Given the description of an element on the screen output the (x, y) to click on. 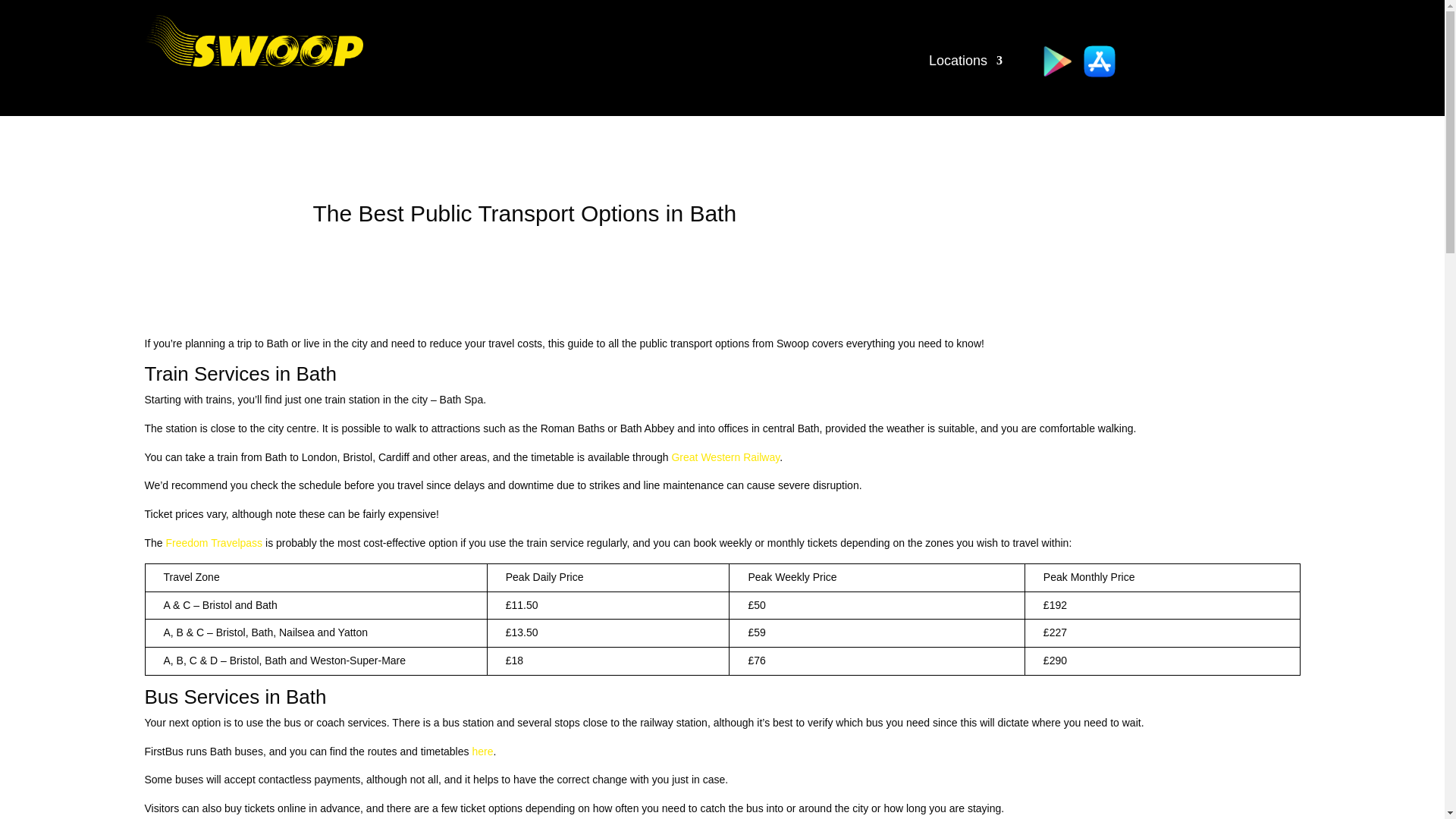
Great Western Railway (724, 457)
Locations (965, 63)
here (482, 751)
Freedom Travelpass (214, 542)
